Given the description of an element on the screen output the (x, y) to click on. 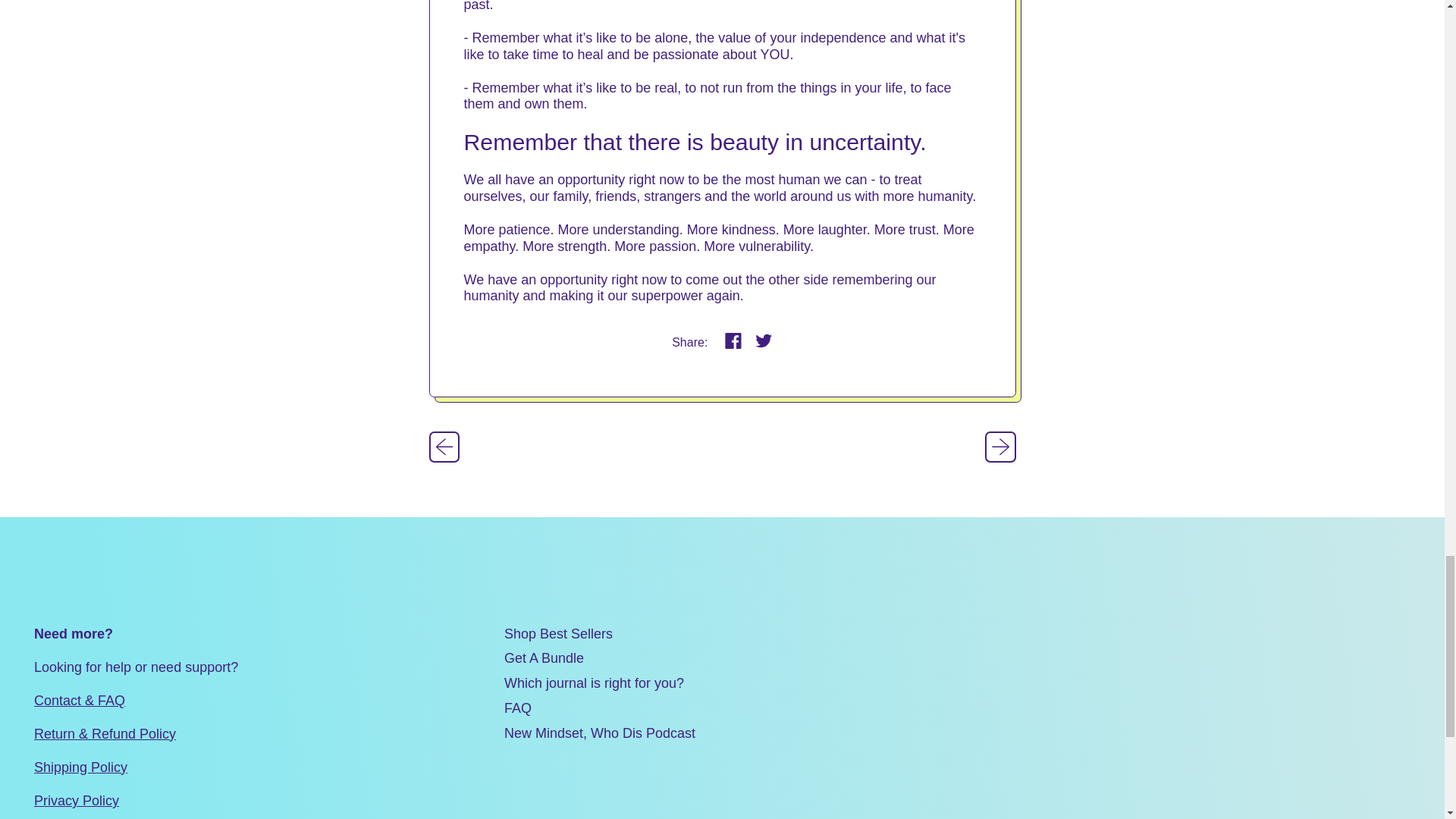
Shop Best Sellers (557, 633)
Refund Policy (104, 734)
Shipping Policy (80, 767)
Shipping Policy (80, 767)
Share on Facebook (733, 342)
Which journal is right for you? (593, 683)
Tweet on Twitter (763, 342)
FAQ (517, 708)
New Mindset, Who Dis Podcast (599, 733)
Get A Bundle (543, 657)
